Given the description of an element on the screen output the (x, y) to click on. 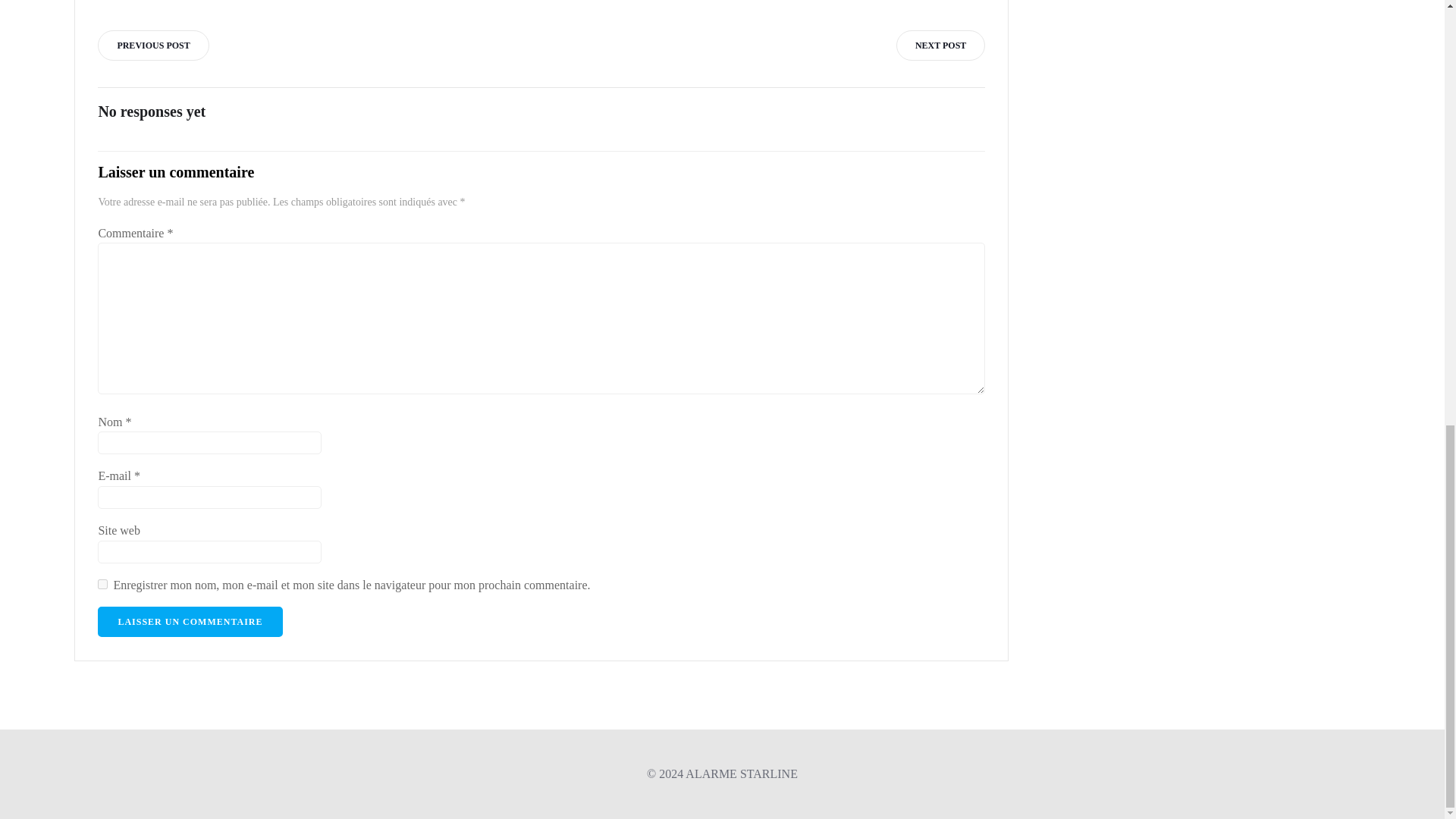
yes (102, 583)
Laisser un commentaire (189, 621)
PREVIOUS POST (152, 45)
Laisser un commentaire (189, 621)
NEXT POST (940, 45)
